Given the description of an element on the screen output the (x, y) to click on. 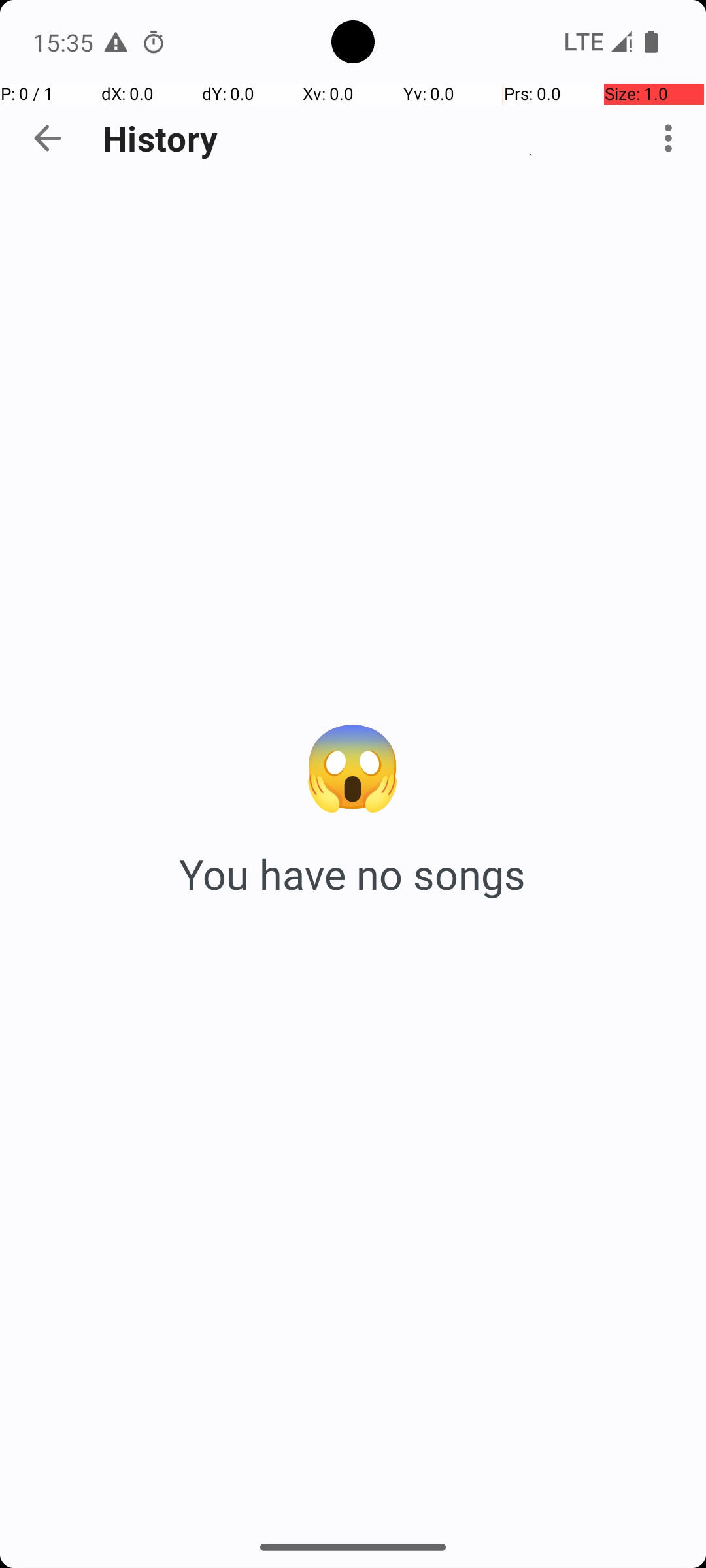
😱 Element type: android.widget.TextView (352, 763)
You have no songs Element type: android.widget.TextView (352, 873)
